Given the description of an element on the screen output the (x, y) to click on. 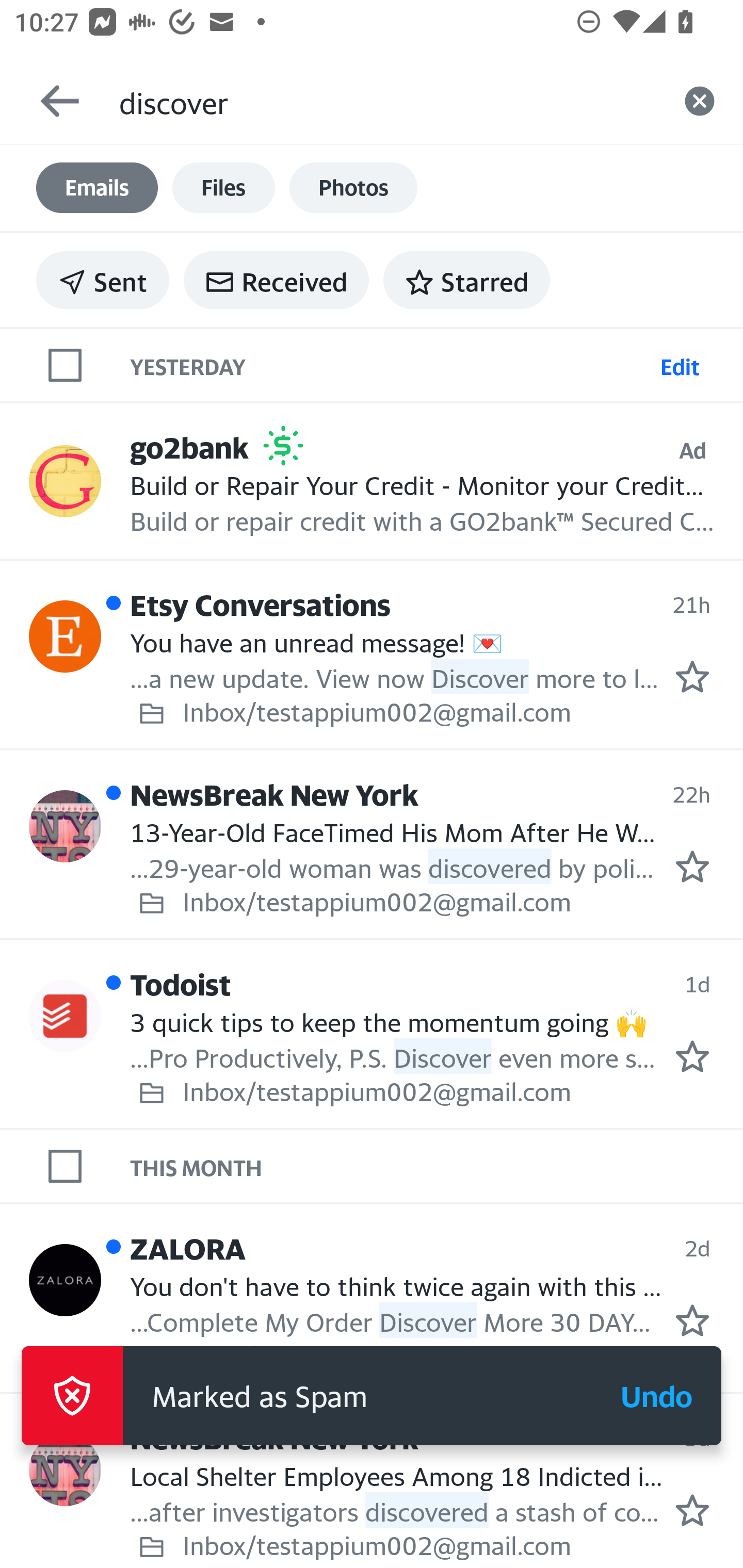
Back (50, 101)
discover (387, 101)
Clear (699, 101)
Emails (96, 188)
Files (223, 188)
Photos (353, 188)
Sent (102, 279)
Received (276, 279)
Starred (466, 279)
YESTERDAY (391, 364)
Edit Select emails (679, 364)
Sponsored (282, 445)
Ad (692, 449)
Profile
Etsy Conversations (64, 636)
Mark as starred. (692, 676)
Profile
NewsBreak New York (64, 826)
Mark as starred. (692, 866)
Profile
Todoist (64, 1016)
Mark as starred. (692, 1056)
THIS MONTH (436, 1165)
Profile
ZALORA (64, 1279)
Mark as starred. (692, 1321)
Marked as Spam Undo (371, 1395)
Marked as Spam (357, 1395)
Undo (656, 1395)
Profile
NewsBreak New York (64, 1469)
Mark as starred. (692, 1510)
